Given the description of an element on the screen output the (x, y) to click on. 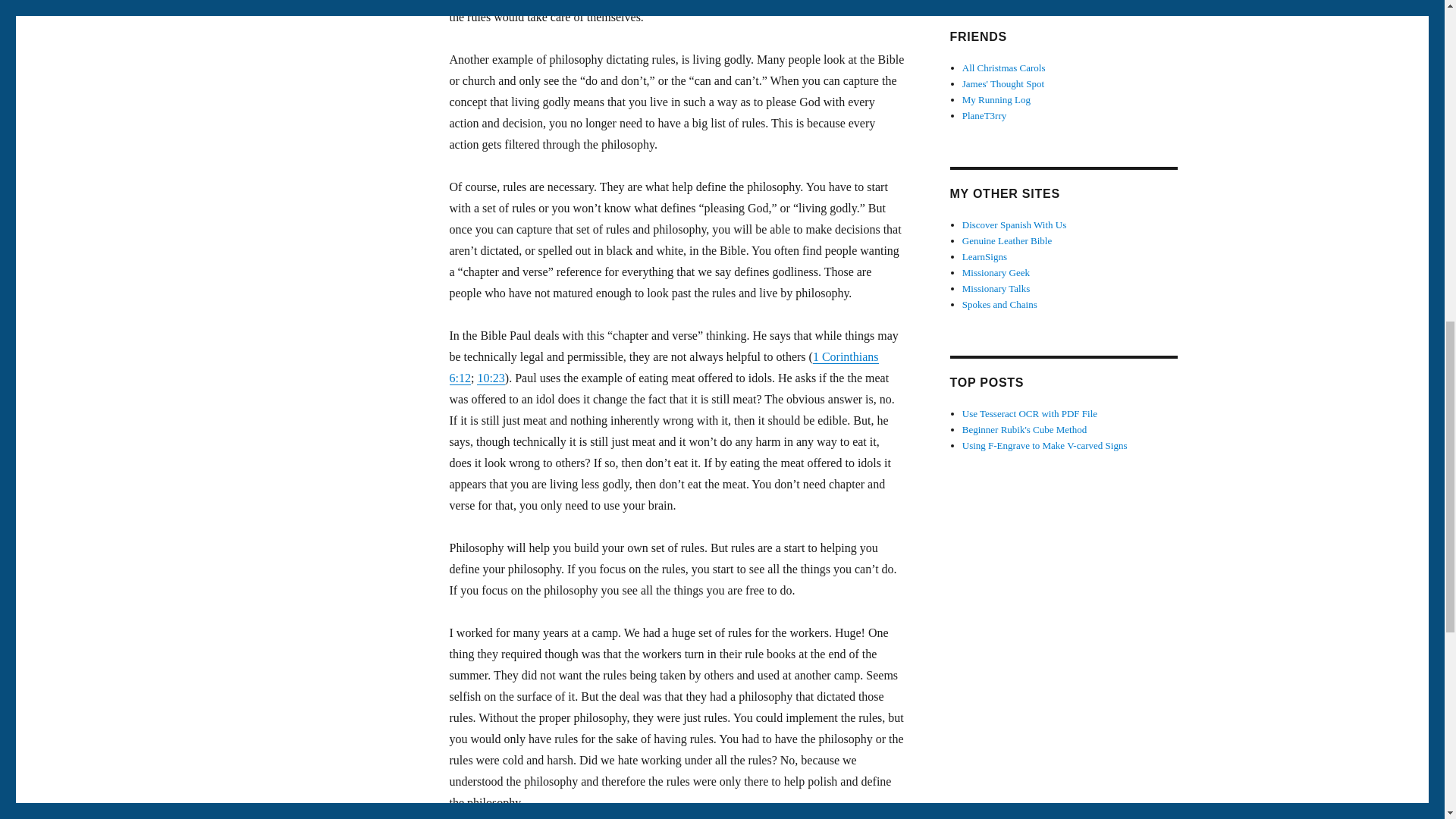
LearnSigns (984, 256)
Genuine Leather Bible (1006, 240)
Spokes and Chains (999, 304)
All Christmas Carols (1003, 67)
Bike related product reviews and information (999, 304)
Using F-Engrave to Make V-carved Signs (1044, 445)
This is my running log at RunningAHEAD.com (996, 99)
PlaneT3rry (984, 115)
Christmas Carol Lyrics (1003, 67)
Beginner Rubik's Cube Method (1024, 429)
1 Cor. 6:12 (662, 367)
10:23 (490, 377)
James' Thought Spot (1002, 83)
My podcast where I record conversations with missionaries. (996, 288)
My Running Log (996, 99)
